Given the description of an element on the screen output the (x, y) to click on. 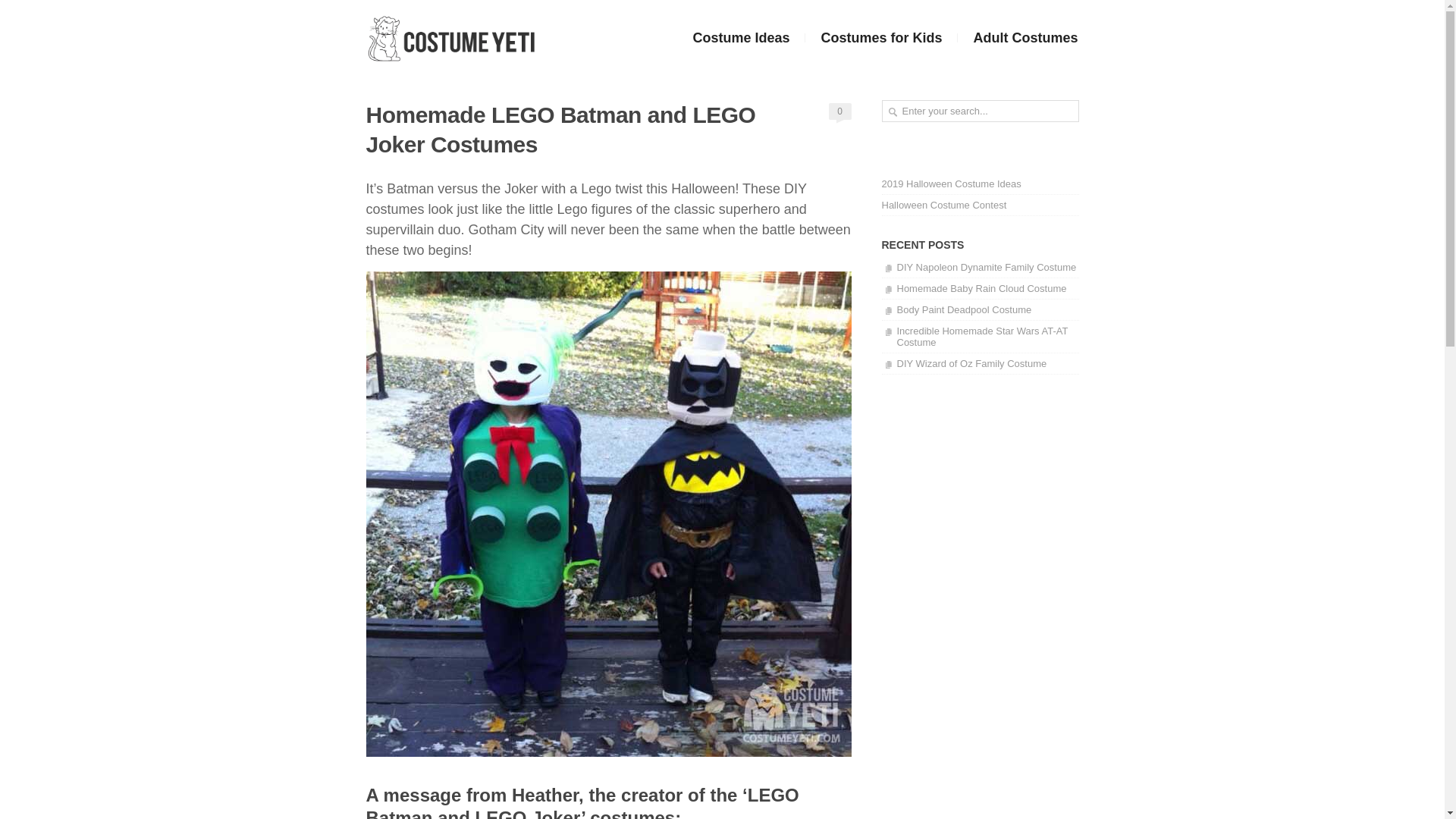
Adult Costumes (1017, 37)
Costumes for Kids (880, 37)
Costume Ideas (741, 37)
Costume Yeti (450, 38)
0 (839, 111)
Enter your search... (979, 110)
